Given the description of an element on the screen output the (x, y) to click on. 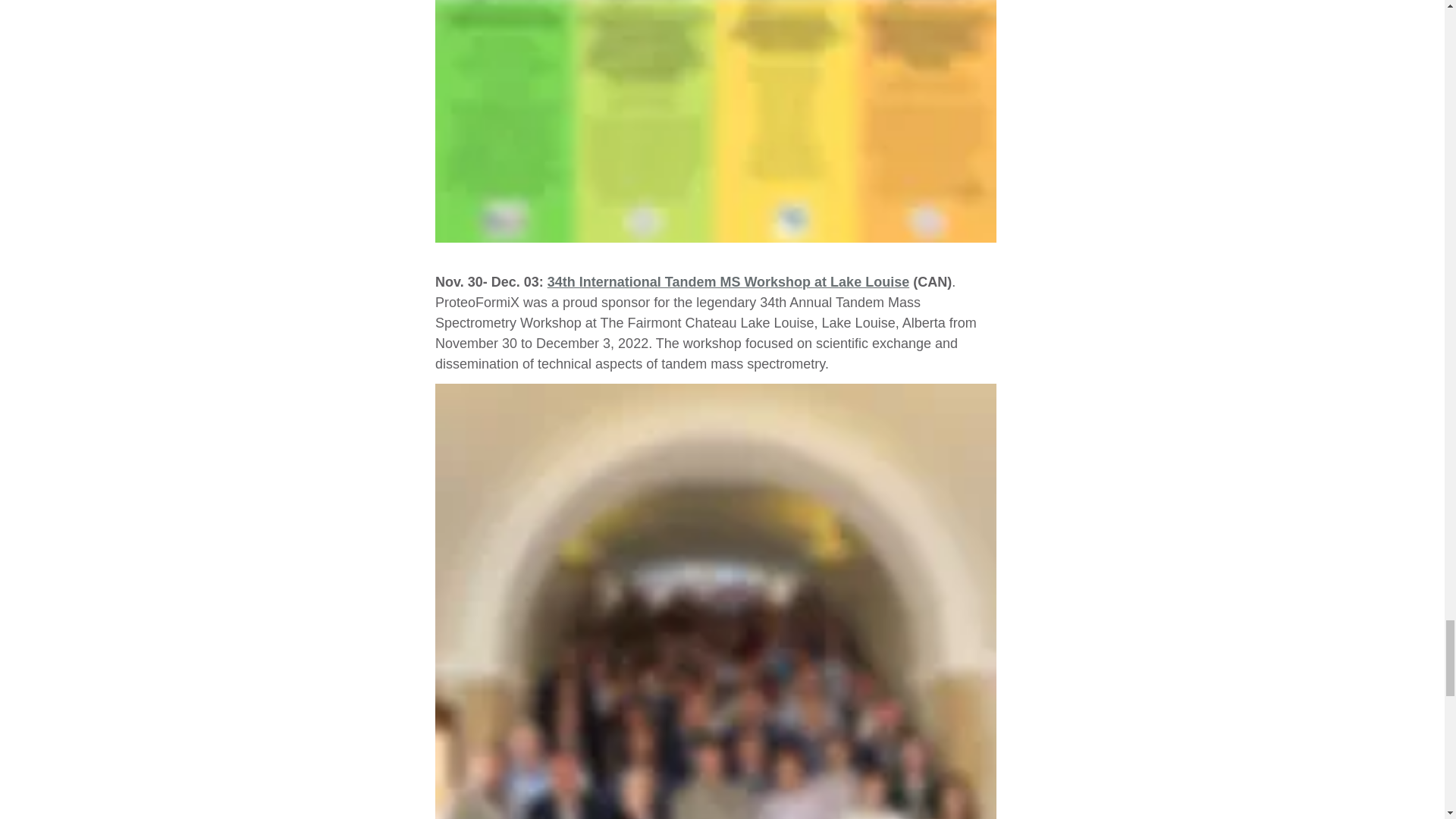
34th International Tandem MS Workshop at Lake Louise (727, 281)
